Given the description of an element on the screen output the (x, y) to click on. 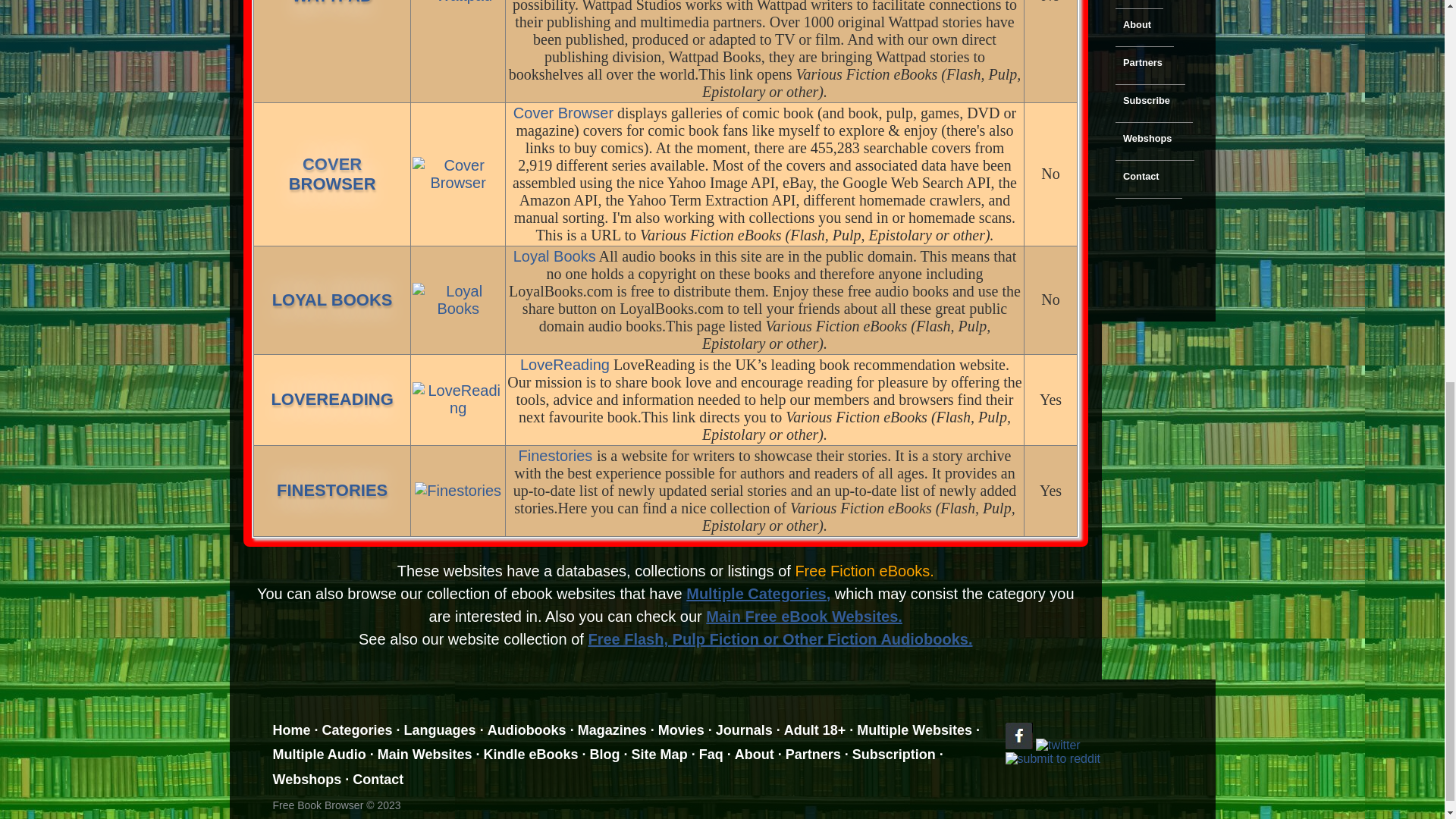
Loyal Books (554, 256)
Multiple Categories, (757, 593)
Loyal Books (457, 299)
LOYAL BOOKS (332, 299)
LOVEREADING (457, 2)
Finestories (331, 398)
LoveReading (557, 455)
WATTPAD (564, 364)
Free Flash, Pulp Fiction or Other Fiction Audiobooks. (457, 490)
LoveReading (332, 2)
Cover Browser (780, 638)
FINESTORIES (457, 399)
Main Free eBook Websites. (562, 112)
